Given the description of an element on the screen output the (x, y) to click on. 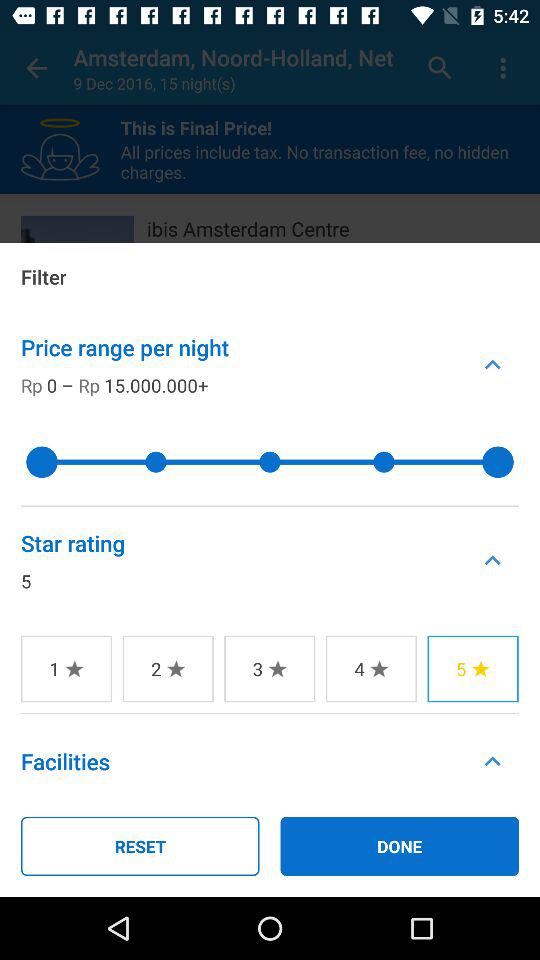
tap icon to the left of done icon (140, 846)
